Given the description of an element on the screen output the (x, y) to click on. 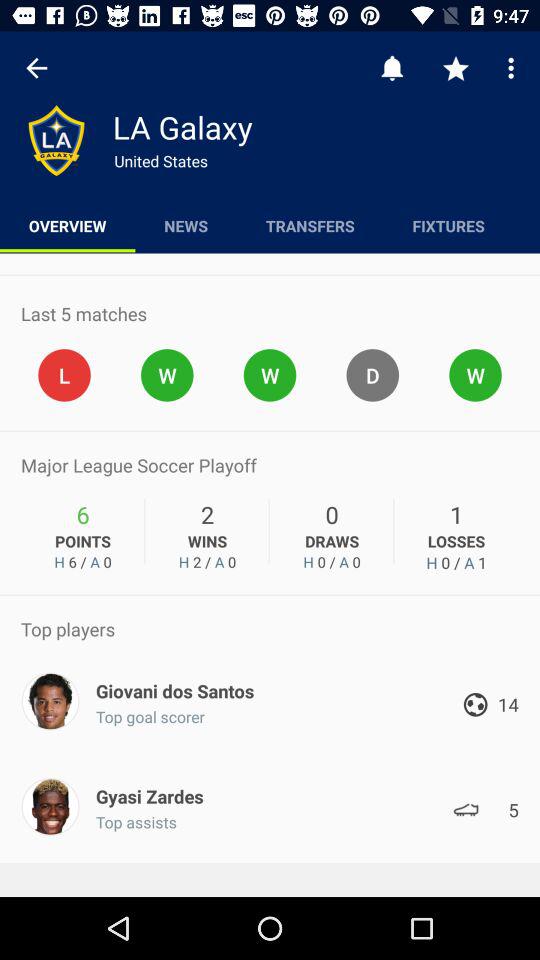
click on the logo which contains la galaxy (56, 139)
